Given the description of an element on the screen output the (x, y) to click on. 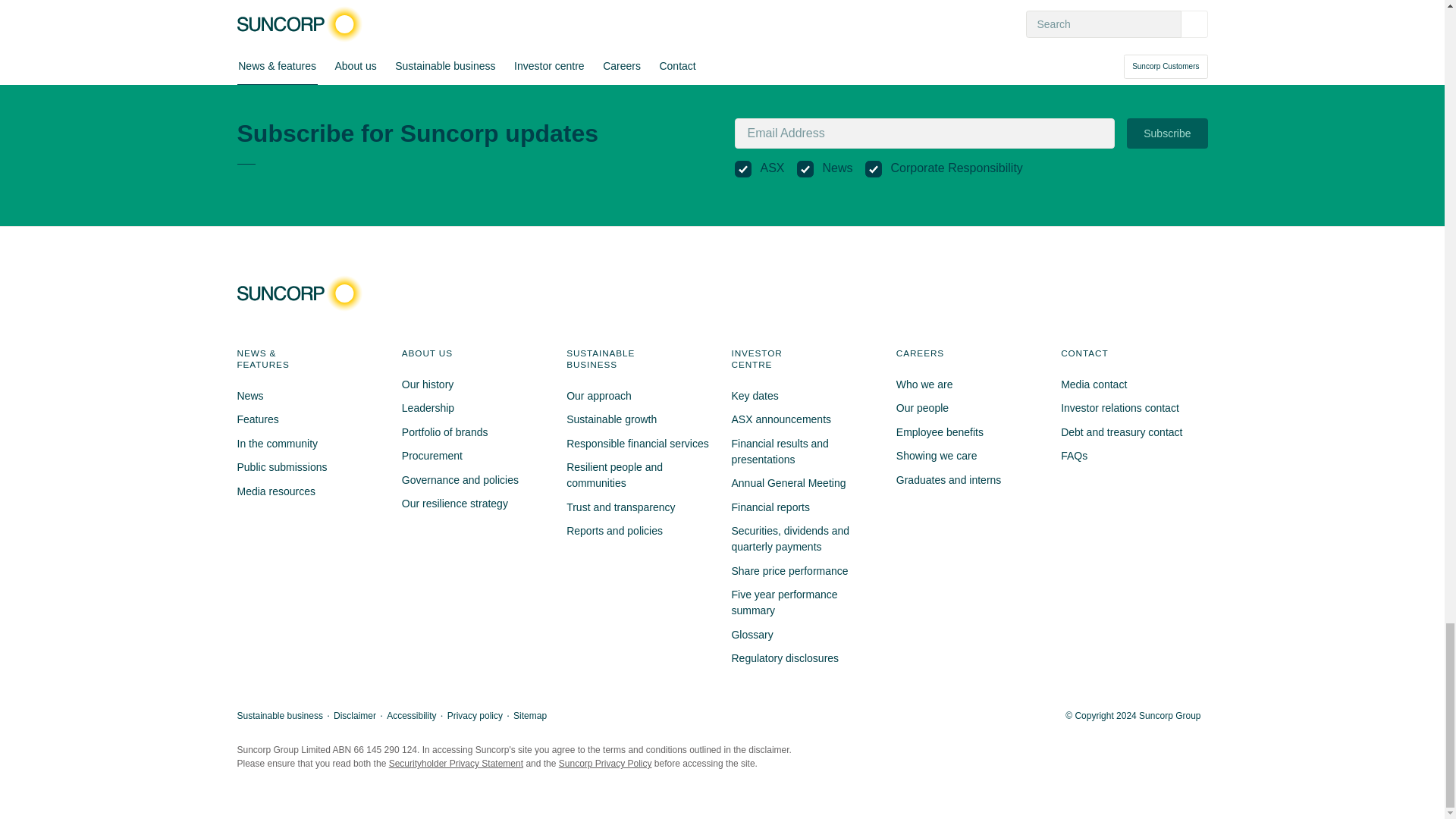
Link to youtube (1185, 293)
Suncorp Group Logo - Link to homepage (302, 293)
Link to linkedin (1158, 293)
Link to twitter (1131, 293)
Link to facebook (1104, 293)
